Given the description of an element on the screen output the (x, y) to click on. 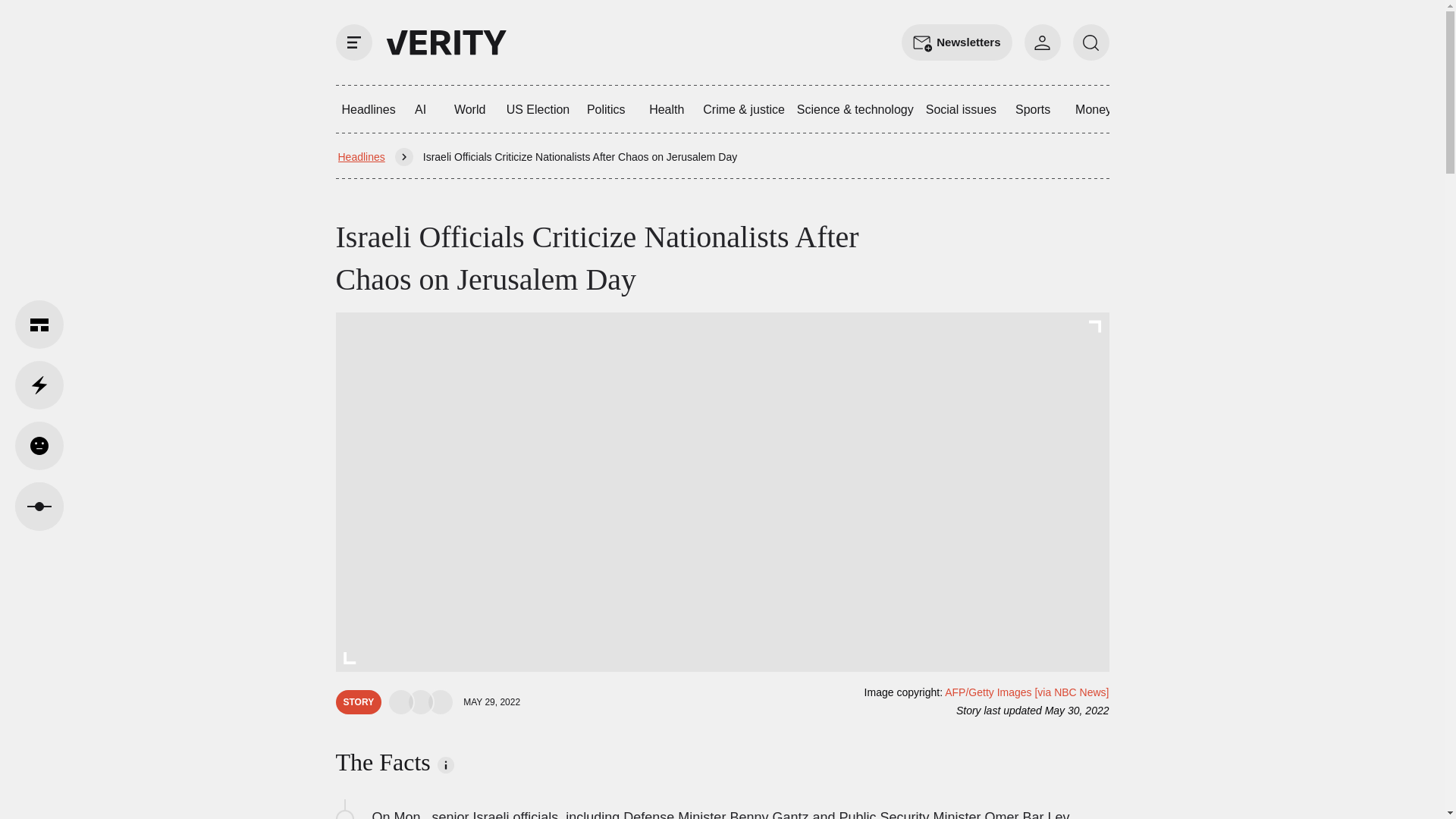
US Election (538, 109)
World (469, 109)
Military (1362, 109)
Sports (1032, 109)
Money (1093, 109)
Military (1362, 109)
Money (1093, 109)
Newsletters (956, 42)
Headlines (360, 156)
